Given the description of an element on the screen output the (x, y) to click on. 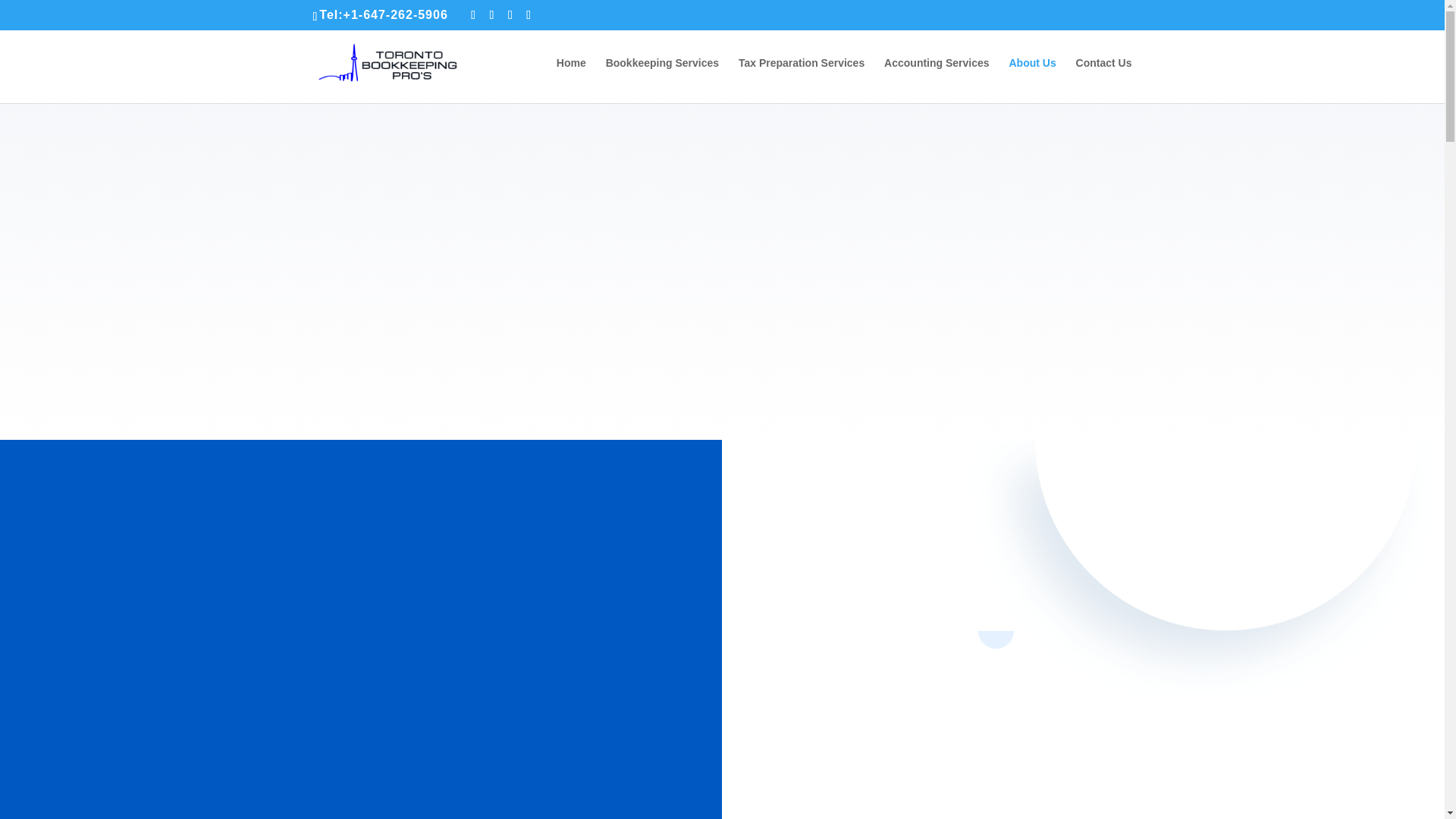
Accounting Services (936, 80)
About Us (1032, 80)
Contact Us (1103, 80)
Bookkeeping Services (662, 80)
Tax Preparation Services (801, 80)
